Given the description of an element on the screen output the (x, y) to click on. 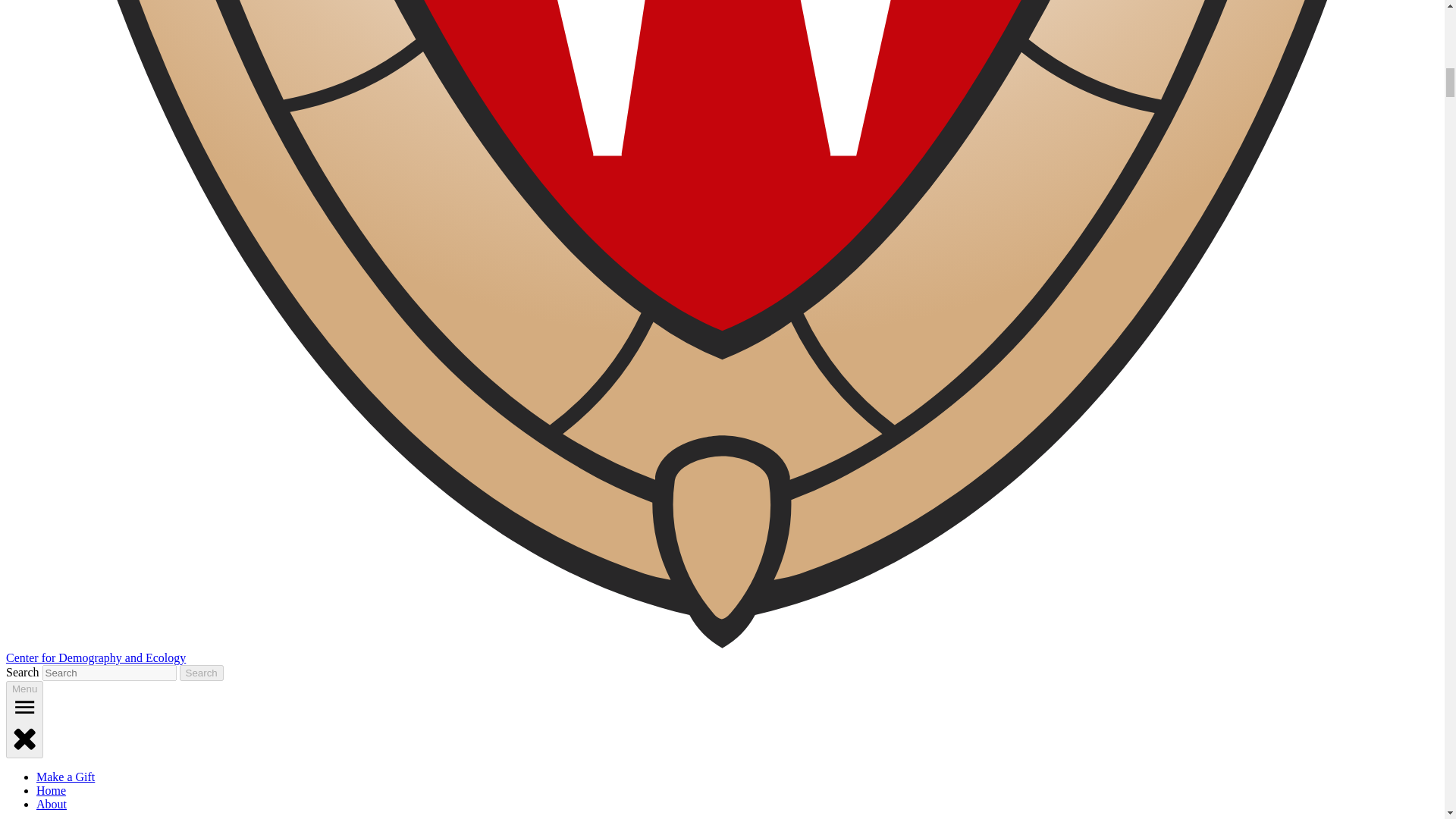
Search (201, 672)
Search (201, 672)
open menu (24, 706)
Home (50, 789)
Center for Demography and Ecology (95, 657)
Make a Gift (65, 776)
Search (201, 672)
